Given the description of an element on the screen output the (x, y) to click on. 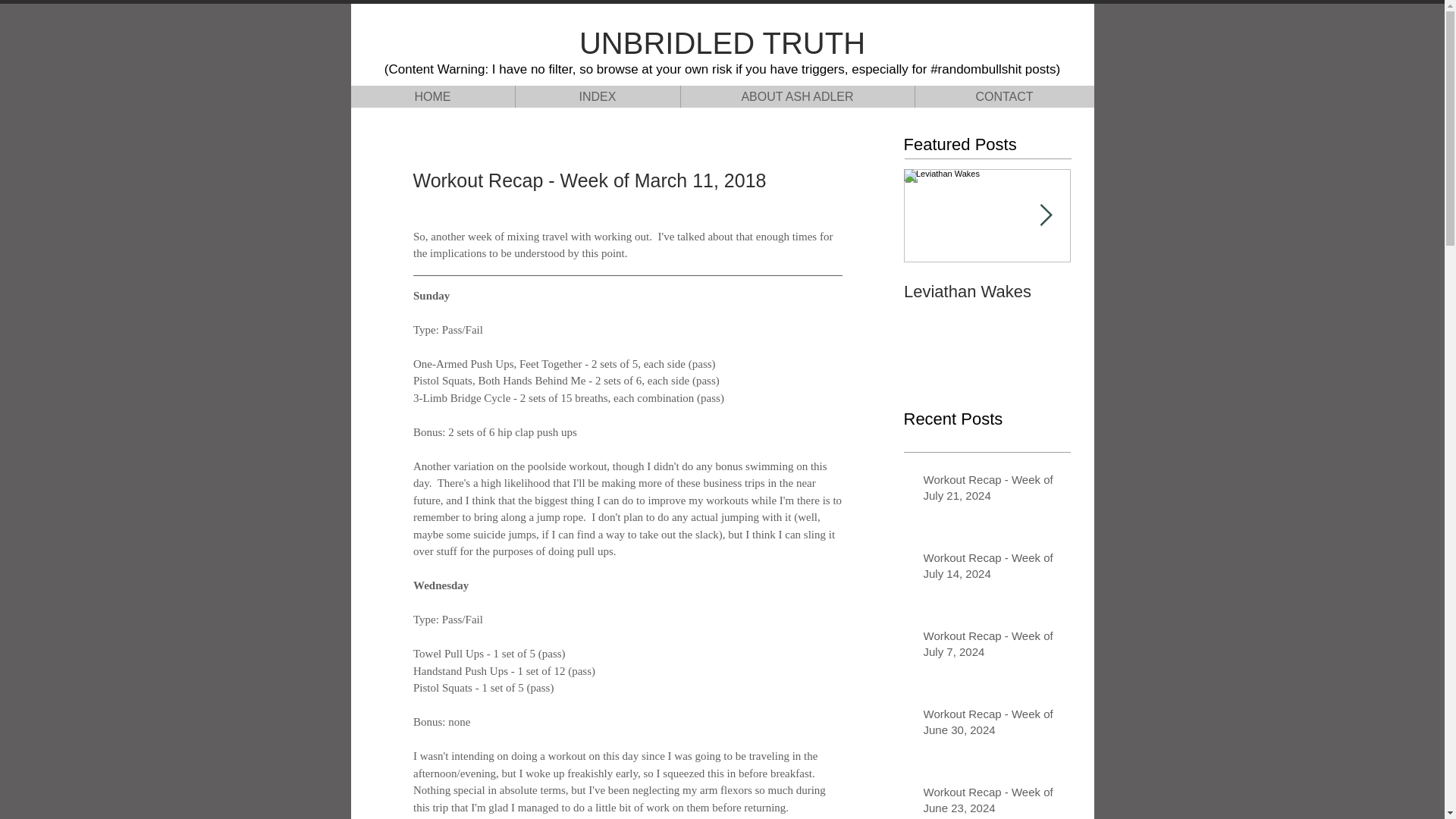
ABOUT ASH ADLER (796, 96)
Workout Recap - Week of June 23, 2024 (992, 801)
Workout Recap - Week of July 14, 2024 (992, 568)
Leviathan Wakes (987, 291)
Workout Recap - Week of July 7, 2024 (992, 646)
Shadowrun Returns (1153, 291)
INDEX (596, 96)
CONTACT (1004, 96)
UNBRIDLED TRUTH (721, 42)
Workout Recap - Week of June 30, 2024 (992, 724)
HOME (431, 96)
Workout Recap - Week of July 21, 2024 (992, 490)
